Given the description of an element on the screen output the (x, y) to click on. 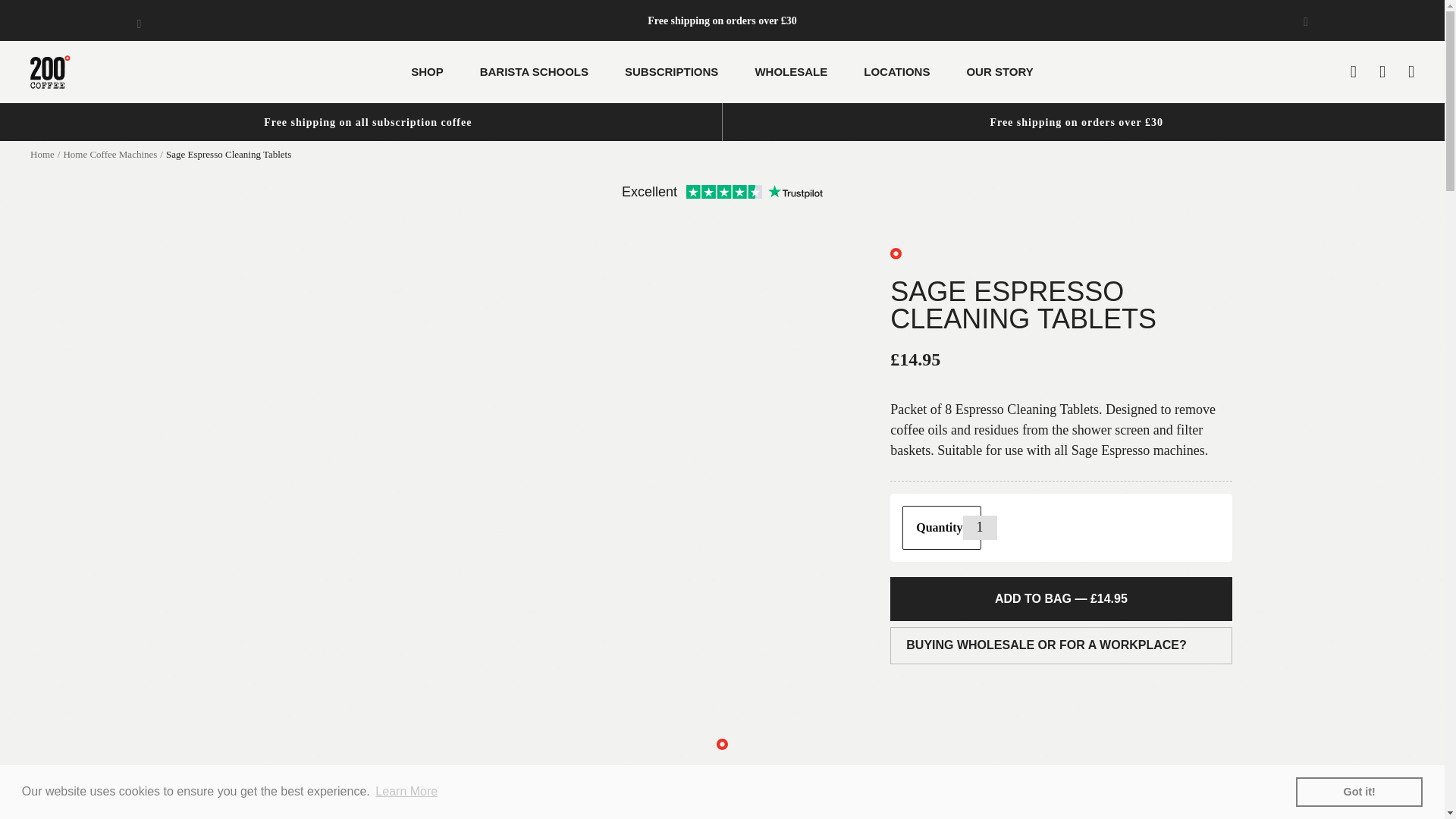
Home (42, 153)
BARISTA SCHOOLS (534, 72)
Coffee Beans (1076, 121)
1 (979, 527)
SHOP (427, 72)
Got it! (1358, 791)
Learn More (405, 791)
